Given the description of an element on the screen output the (x, y) to click on. 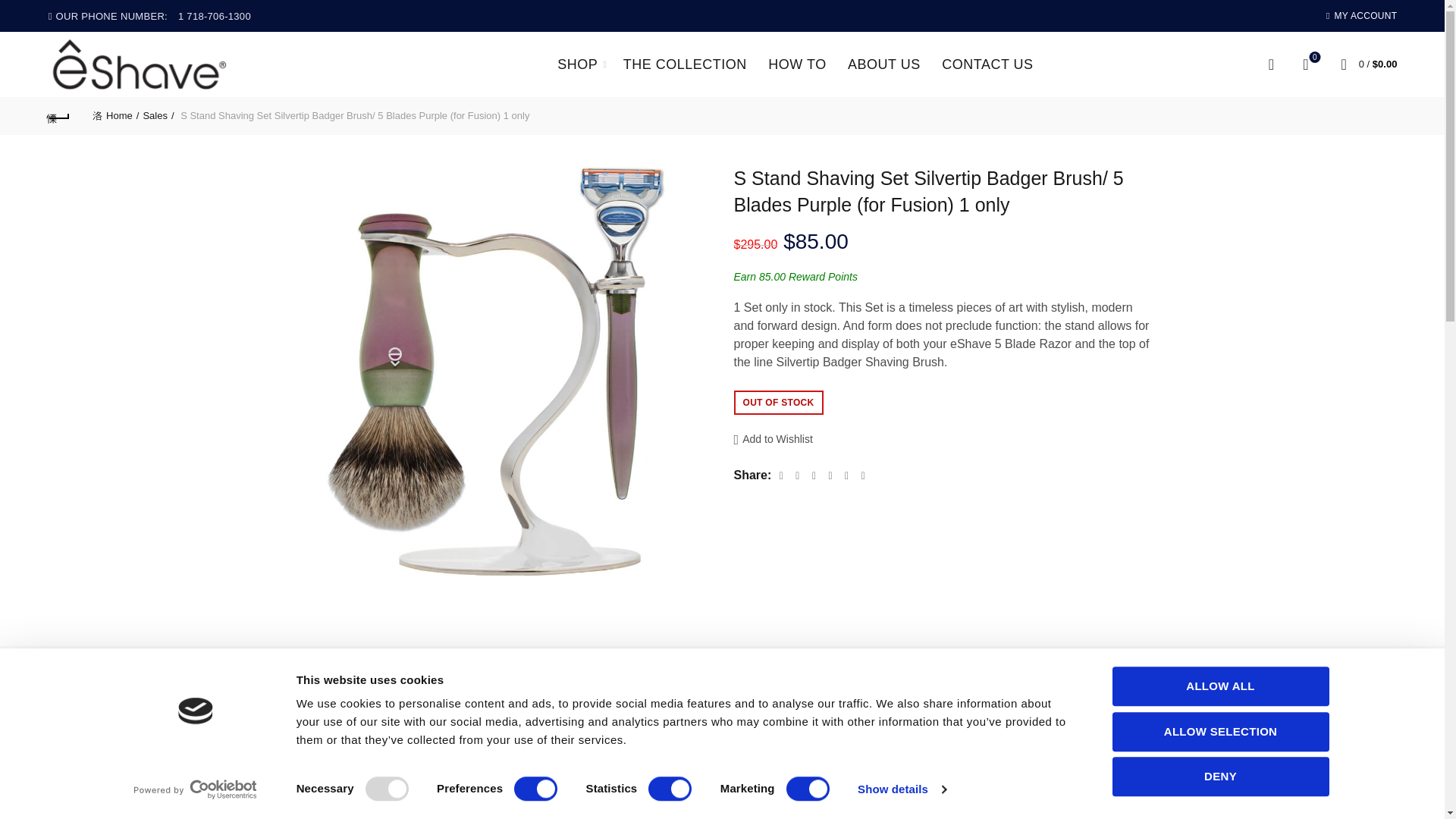
Show details (900, 789)
DENY (1219, 776)
ALLOW ALL (1219, 685)
ALLOW SELECTION (1219, 731)
